Given the description of an element on the screen output the (x, y) to click on. 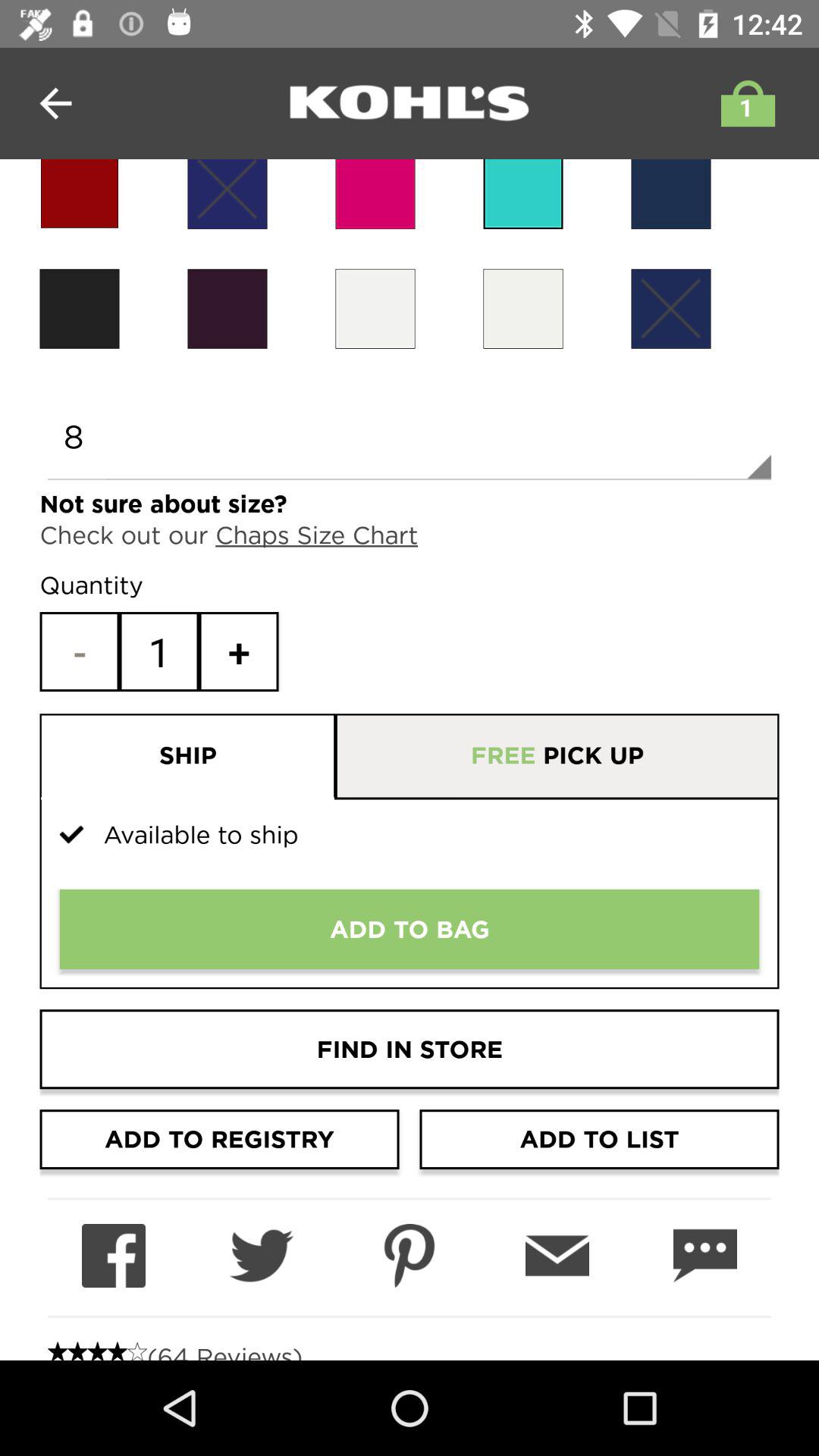
choose pink clothing color (375, 194)
